Given the description of an element on the screen output the (x, y) to click on. 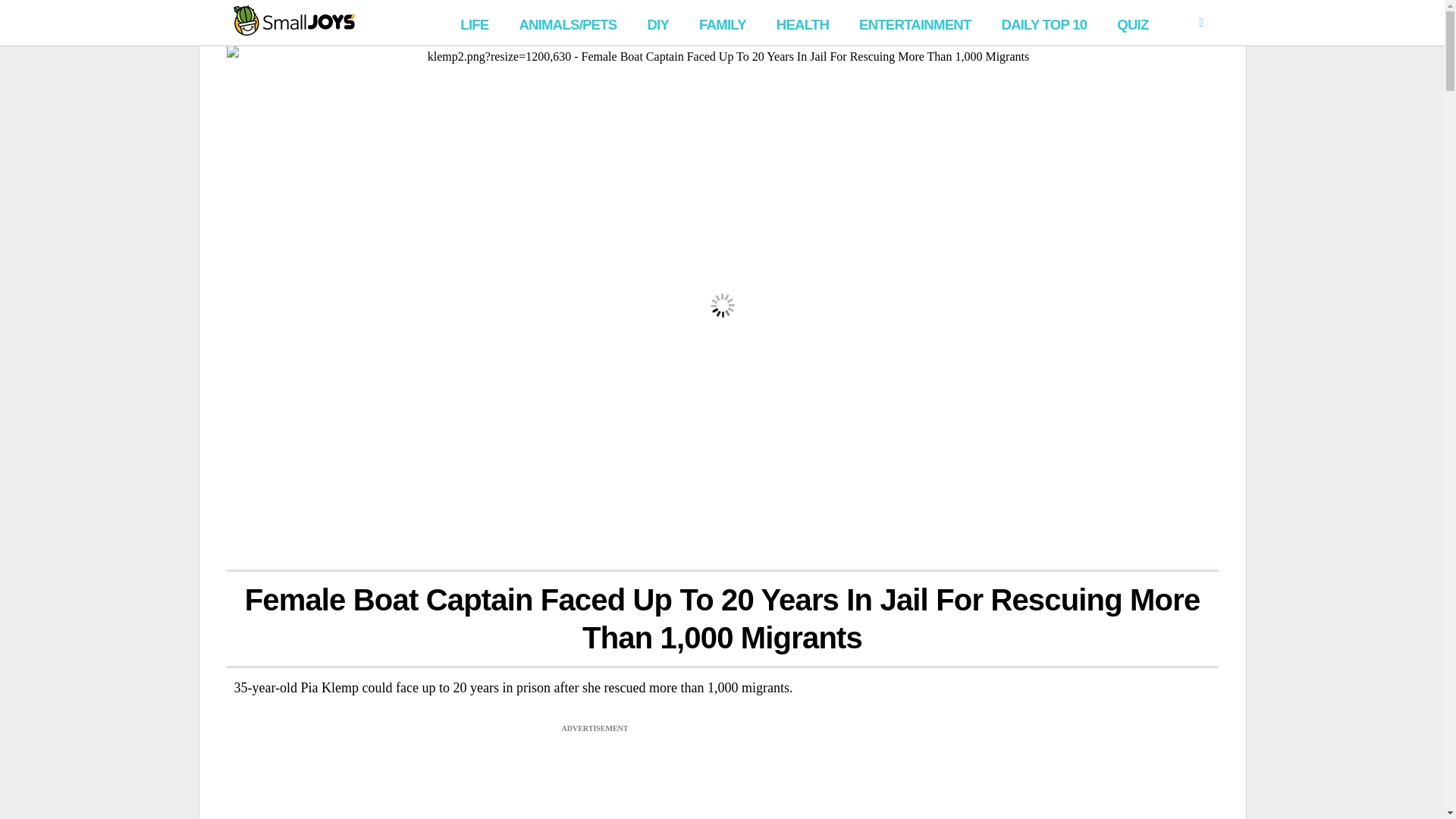
QUIZ (1132, 22)
FAMILY (722, 22)
DAILY TOP 10 (1043, 22)
LIFE (474, 22)
HEALTH (801, 22)
ENTERTAINMENT (914, 22)
